Given the description of an element on the screen output the (x, y) to click on. 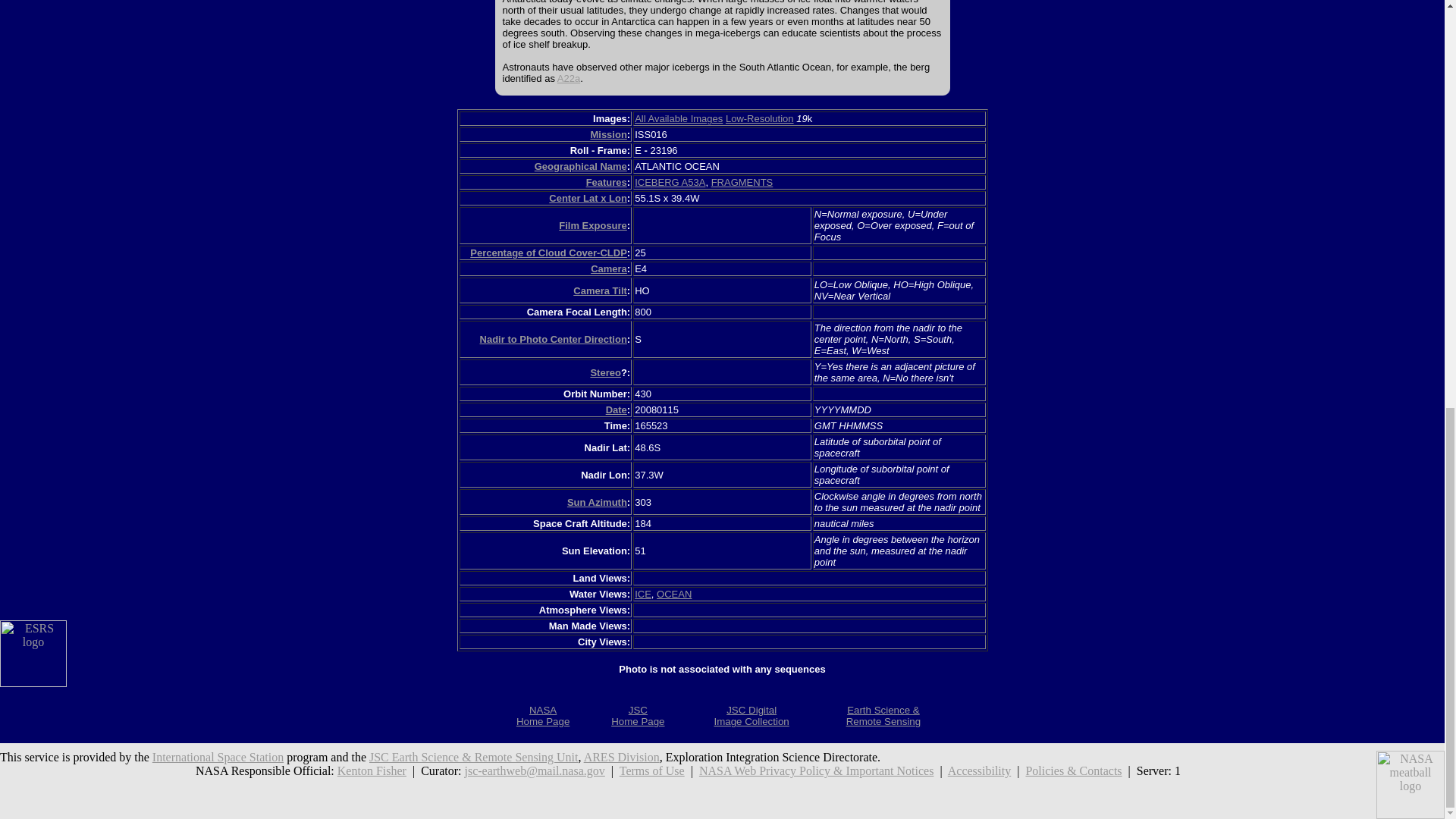
Camera (609, 268)
Low-Resolution (759, 118)
Sun Azimuth (597, 501)
Kenton Fisher (371, 770)
ICE (642, 593)
All Available Images (542, 715)
Features (678, 118)
FRAGMENTS (606, 182)
ARES Division (742, 182)
